Given the description of an element on the screen output the (x, y) to click on. 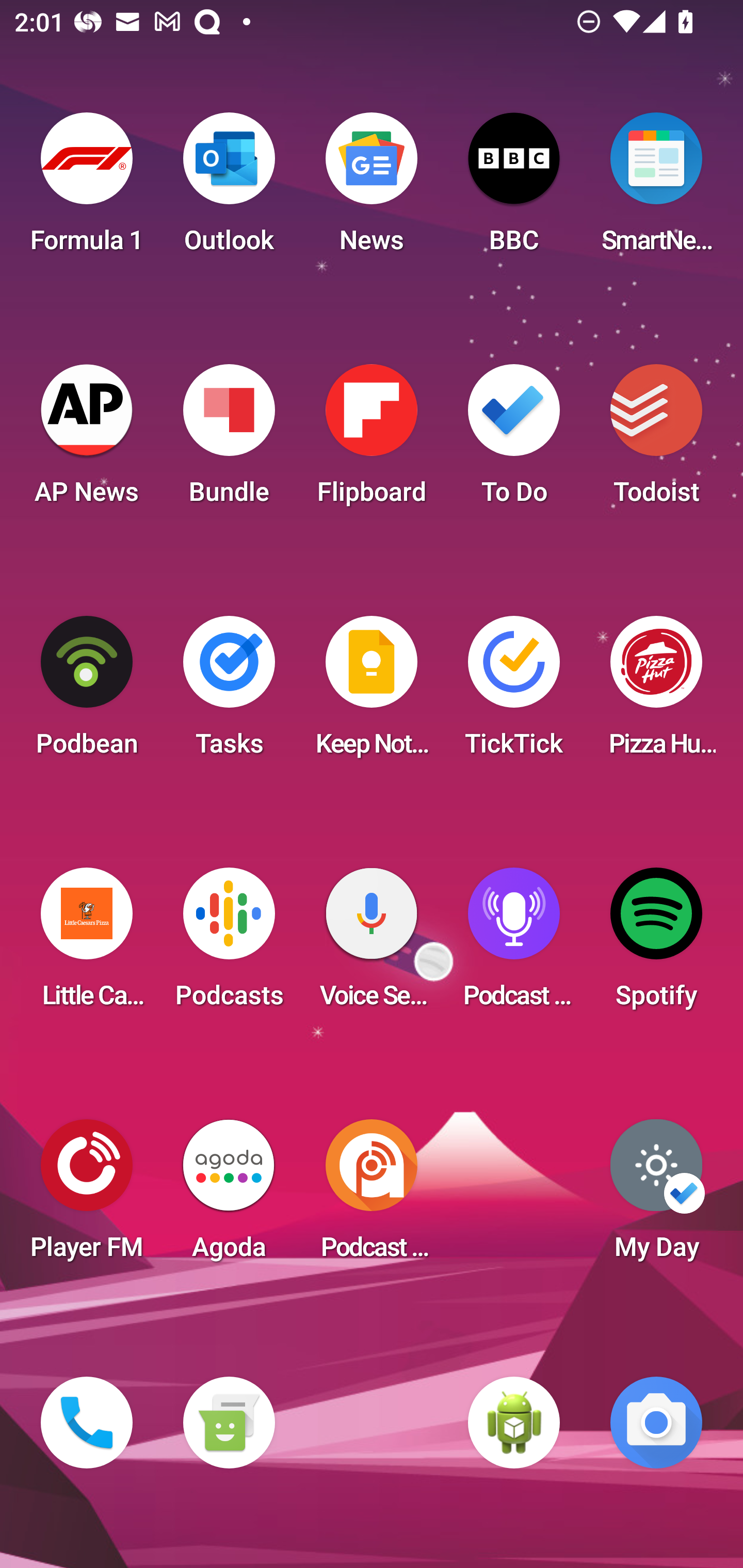
Formula 1 (86, 188)
Outlook (228, 188)
News (371, 188)
BBC (513, 188)
SmartNews (656, 188)
AP News (86, 440)
Bundle (228, 440)
Flipboard (371, 440)
To Do (513, 440)
Todoist (656, 440)
Podbean (86, 692)
Tasks (228, 692)
Keep Notes (371, 692)
TickTick (513, 692)
Pizza Hut HK & Macau (656, 692)
Little Caesars Pizza (86, 943)
Podcasts (228, 943)
Voice Search (371, 943)
Podcast Player (513, 943)
Spotify (656, 943)
Player FM (86, 1195)
Agoda (228, 1195)
Podcast Addict (371, 1195)
My Day (656, 1195)
Phone (86, 1422)
Messaging (228, 1422)
WebView Browser Tester (513, 1422)
Camera (656, 1422)
